Given the description of an element on the screen output the (x, y) to click on. 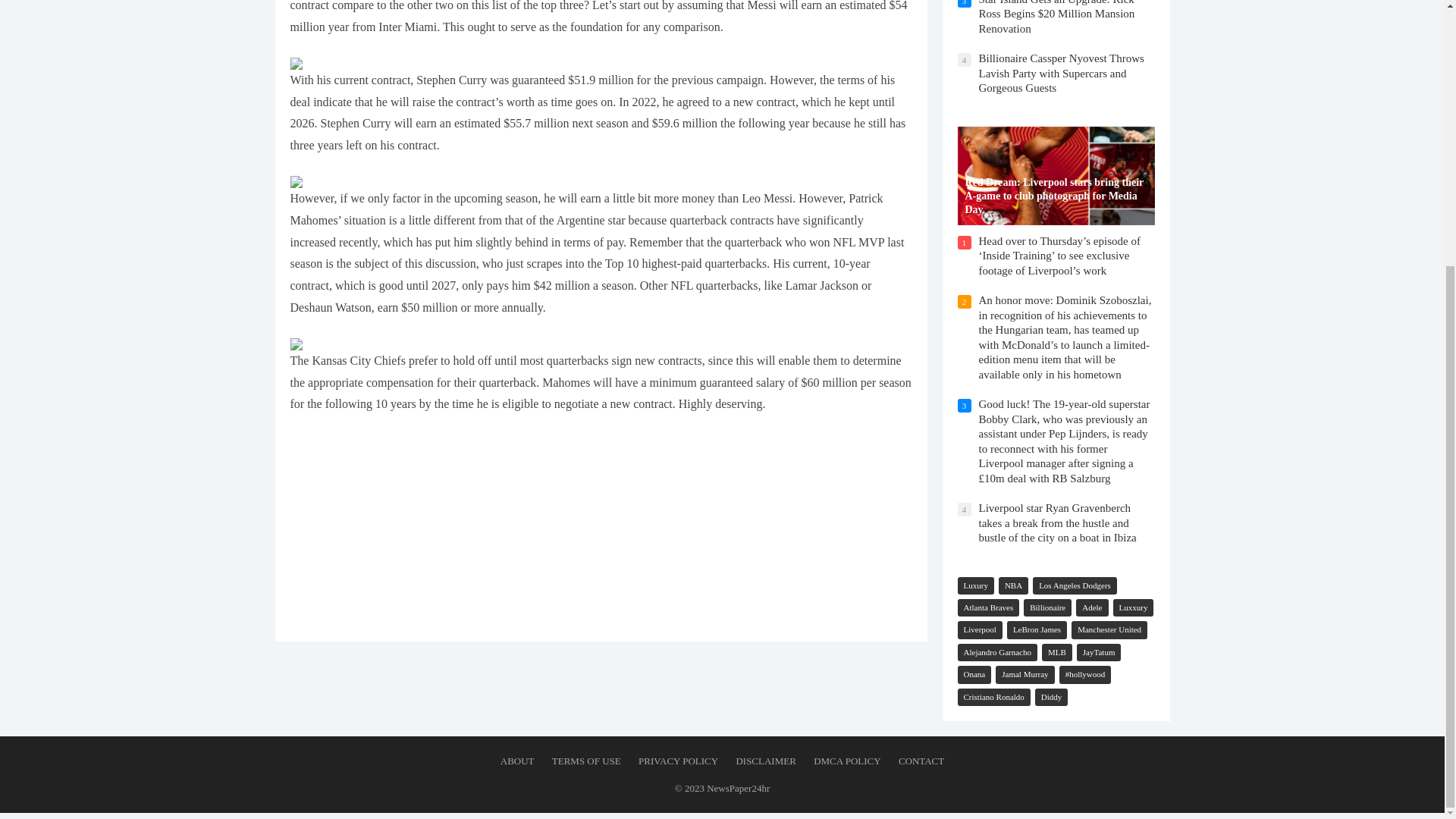
Los Angeles Dodgers (1074, 585)
Adele (1091, 607)
NBA (1012, 585)
Luxury (974, 585)
LeBron James (1037, 629)
Liverpool (978, 629)
Billionaire (1047, 607)
